Given the description of an element on the screen output the (x, y) to click on. 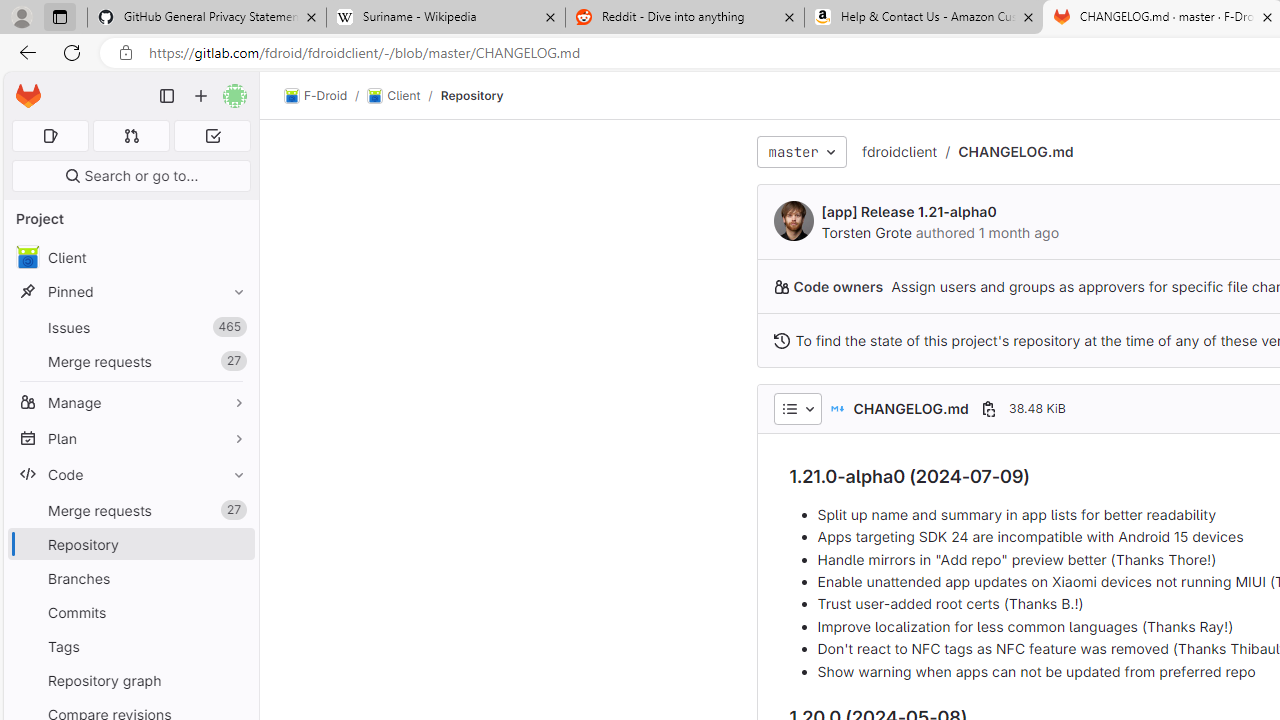
Issues465 (130, 327)
Merge requests 27 (130, 510)
avatar (27, 257)
Repository graph (130, 679)
Pin Commits (234, 611)
Torsten Grote's avatar (793, 220)
F-Droid (316, 96)
Merge requests27 (130, 510)
Pin Repository graph (234, 680)
Plan (130, 438)
Class: s16 gl-mr-1 gl-align-text-bottom (781, 340)
Torsten Grote's avatar (793, 220)
